Given the description of an element on the screen output the (x, y) to click on. 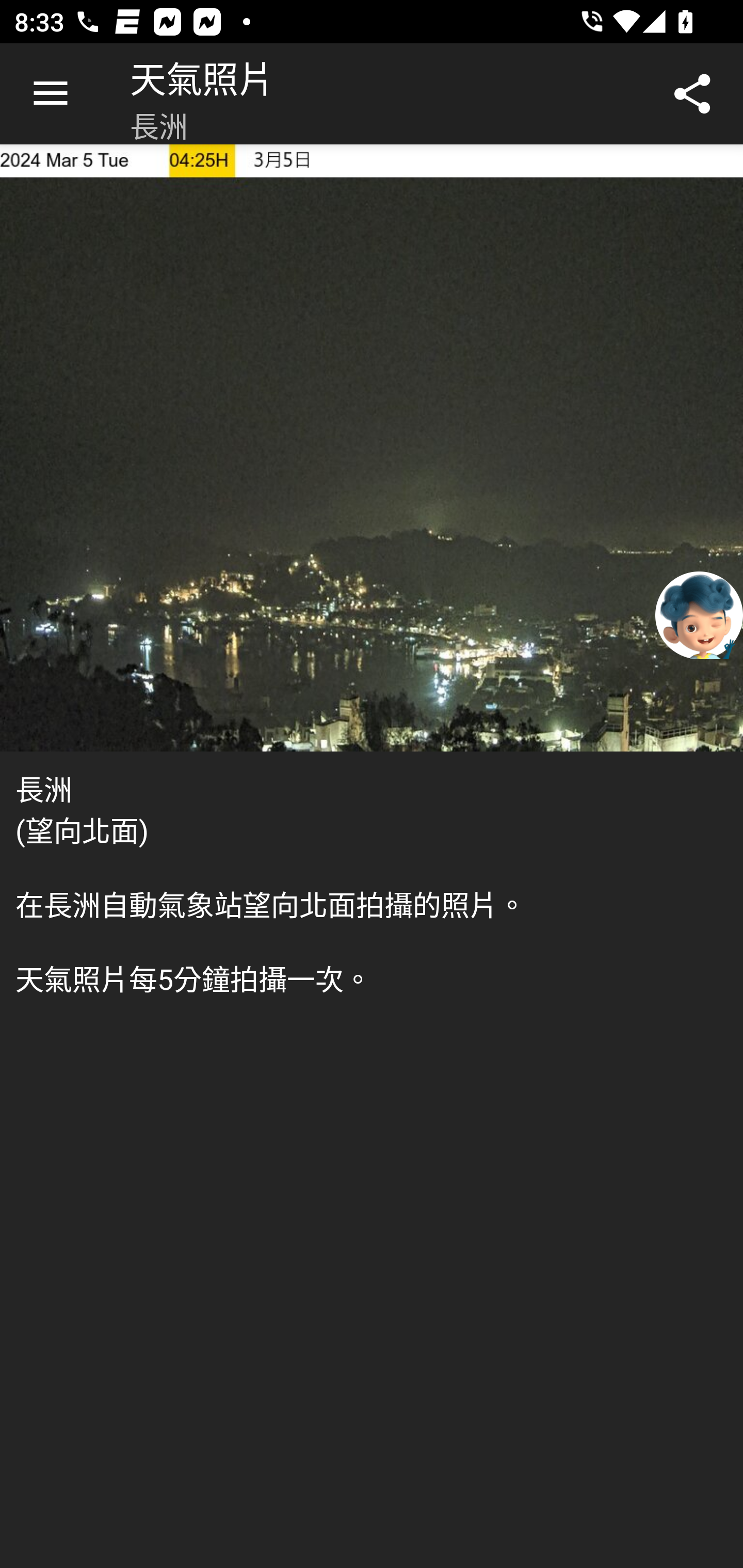
向上瀏覽 (50, 93)
分享 (692, 93)
聊天機械人 (699, 614)
